Given the description of an element on the screen output the (x, y) to click on. 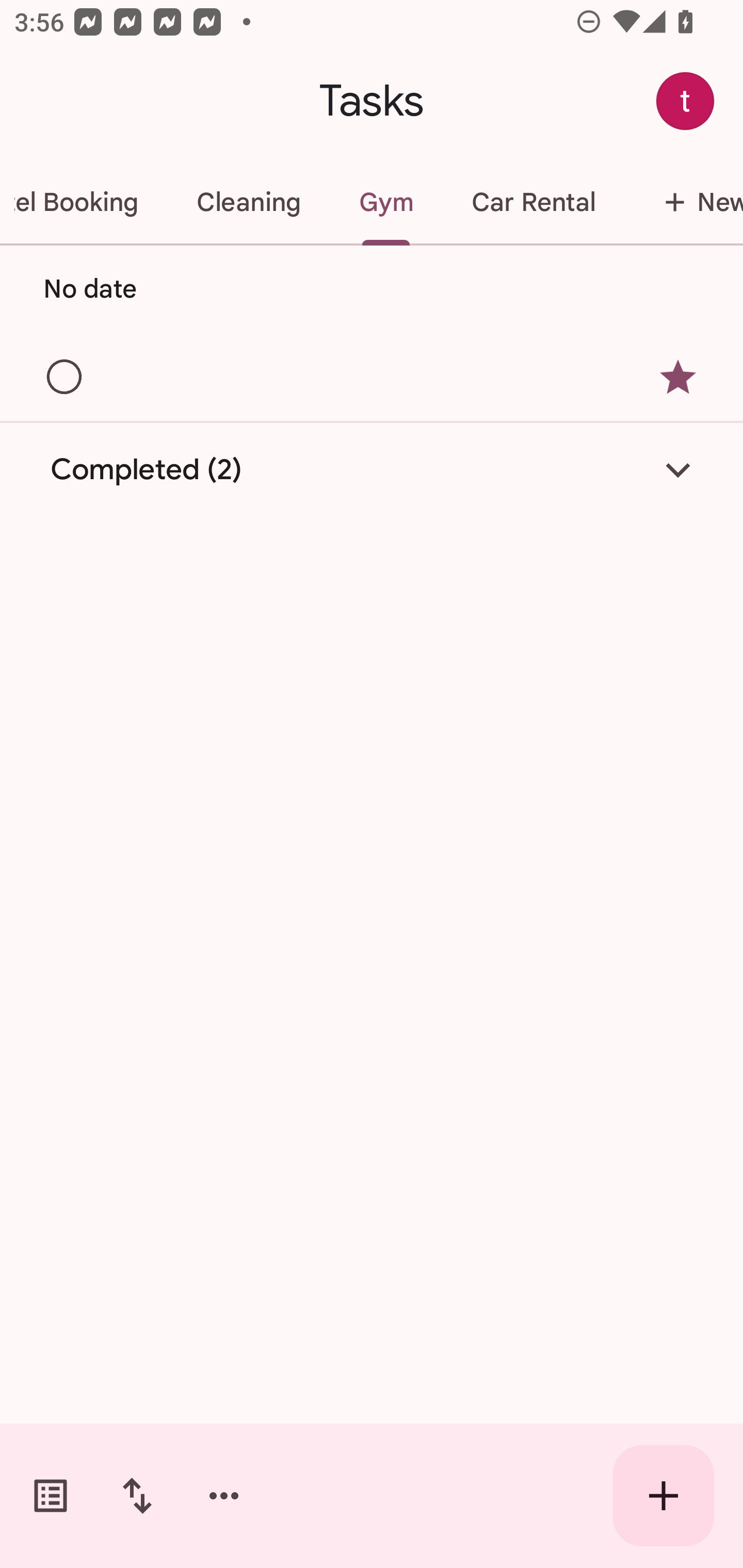
Hotel Booking (83, 202)
Cleaning (248, 202)
Car Rental (533, 202)
(No title), Starred Remove star Mark as complete (371, 376)
Remove star (677, 376)
Mark as complete (64, 377)
Completed (2) (371, 470)
Switch task lists (50, 1495)
Create new task (663, 1495)
Change sort order (136, 1495)
More options (223, 1495)
